Given the description of an element on the screen output the (x, y) to click on. 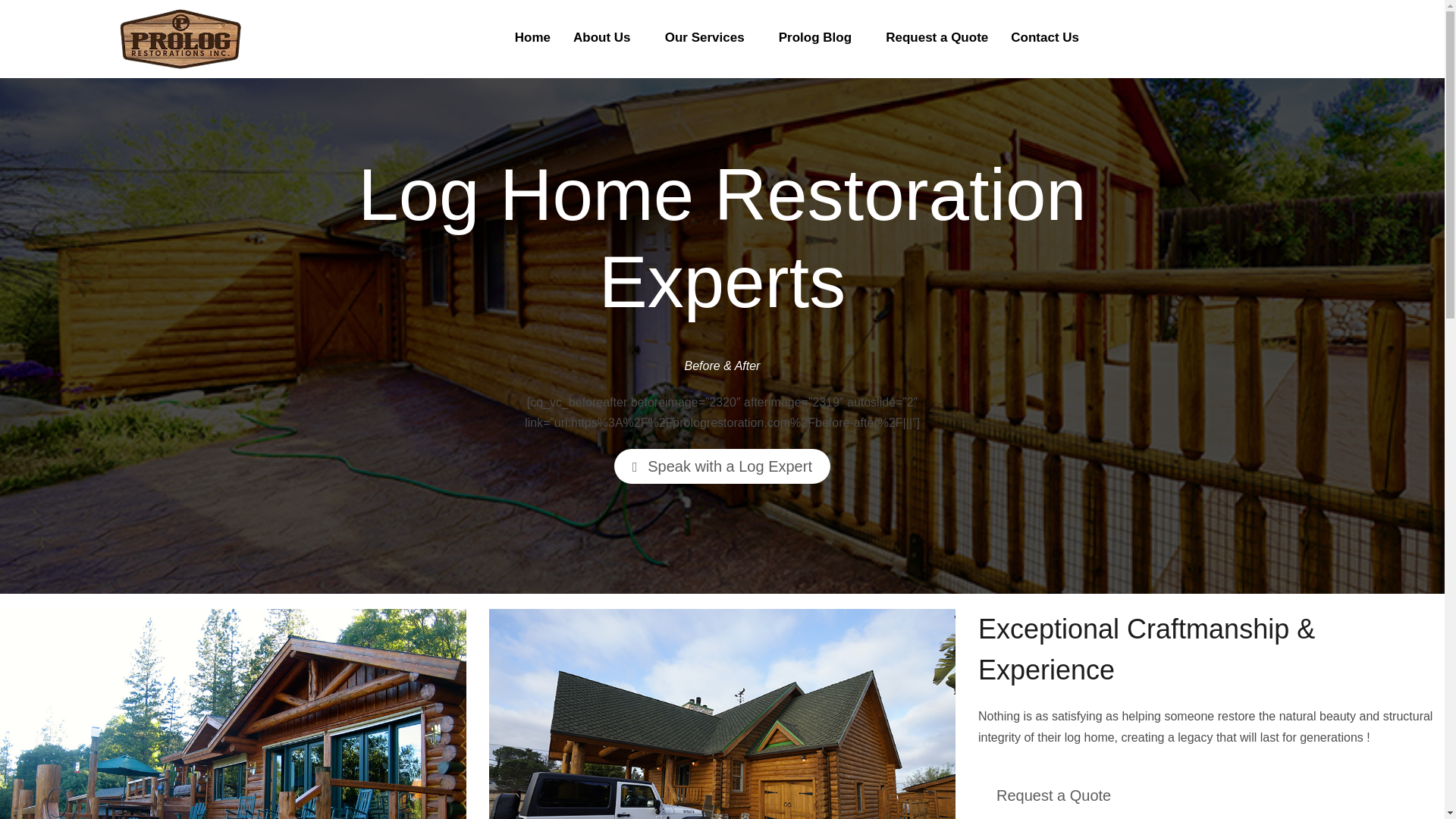
About Us (607, 36)
Request a Quote (936, 36)
Contact Us (1044, 36)
Speak with a Log Expert (721, 466)
Request a Quote (1053, 796)
Our Services (710, 36)
Home (532, 36)
Prolog Blog (821, 36)
